Given the description of an element on the screen output the (x, y) to click on. 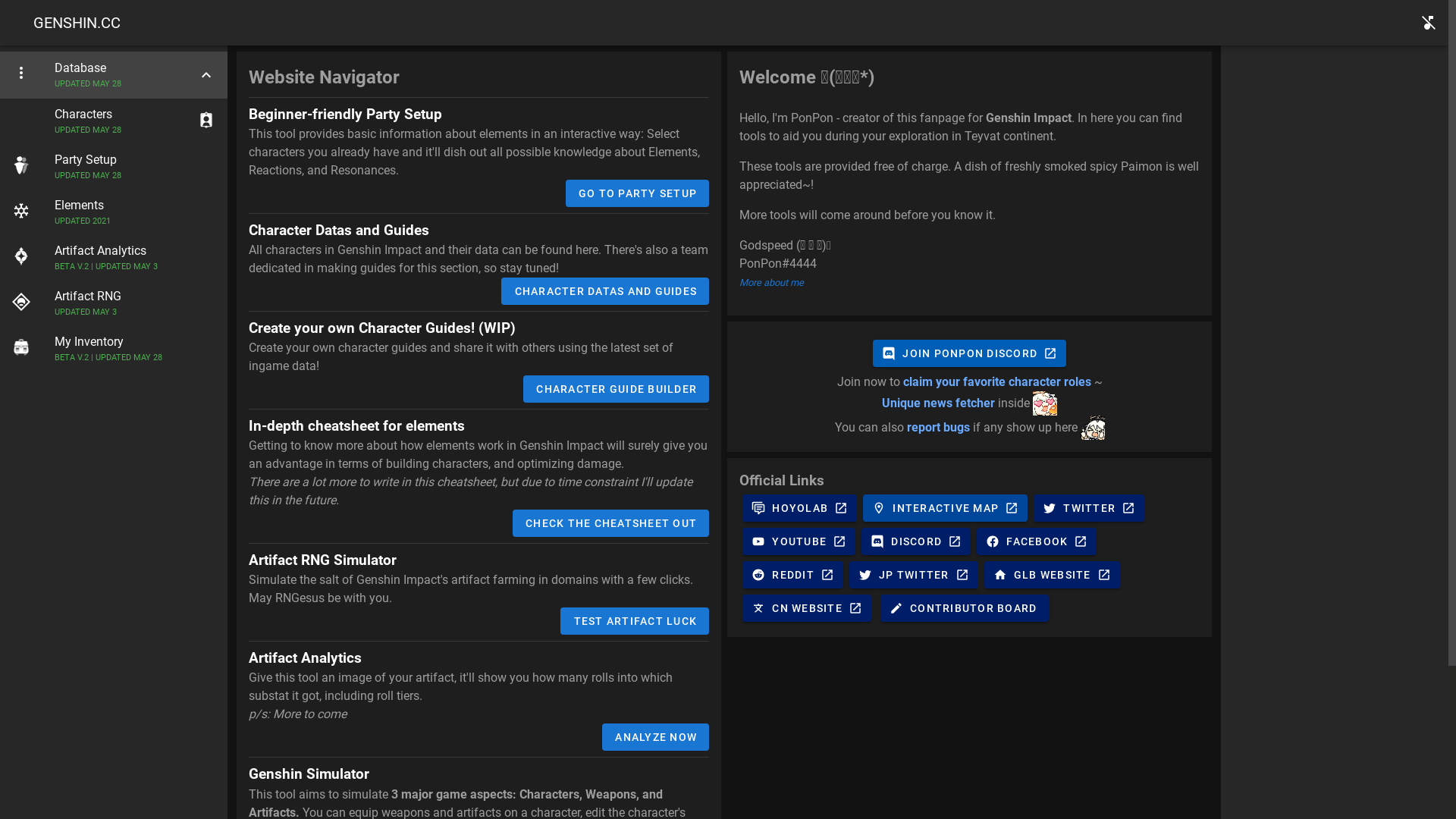
FACEBOOK Element type: text (1036, 541)
Artifact RNG
UPDATED MAY 3 Element type: text (113, 303)
CHARACTER DATAS AND GUIDES Element type: text (605, 290)
INTERACTIVE MAP Element type: text (944, 507)
DISCORD Element type: text (915, 541)
More about me Element type: text (771, 282)
Artifact Analytics
BETA V.2 | UPDATED MAY 3 Element type: text (113, 257)
Elements
UPDATED 2021 Element type: text (113, 212)
JOIN PONPON DISCORD Element type: text (969, 353)
JP TWITTER Element type: text (913, 574)
Party Setup
UPDATED MAY 28 Element type: text (113, 166)
TWITTER Element type: text (1088, 507)
CHARACTER GUIDE BUILDER Element type: text (616, 388)
GO TO PARTY SETUP Element type: text (637, 193)
TEST ARTIFACT LUCK Element type: text (634, 620)
CN WEBSITE Element type: text (806, 607)
CONTRIBUTOR BOARD Element type: text (964, 607)
GLB WEBSITE Element type: text (1052, 574)
My Inventory
BETA V.2 | UPDATED MAY 28 Element type: text (113, 348)
CHECK THE CHEATSHEET OUT Element type: text (610, 522)
HOYOLAB Element type: text (799, 507)
YOUTUBE Element type: text (798, 541)
REDDIT Element type: text (792, 574)
Characters
UPDATED MAY 28 Element type: text (113, 121)
ANALYZE NOW Element type: text (655, 736)
